Given the description of an element on the screen output the (x, y) to click on. 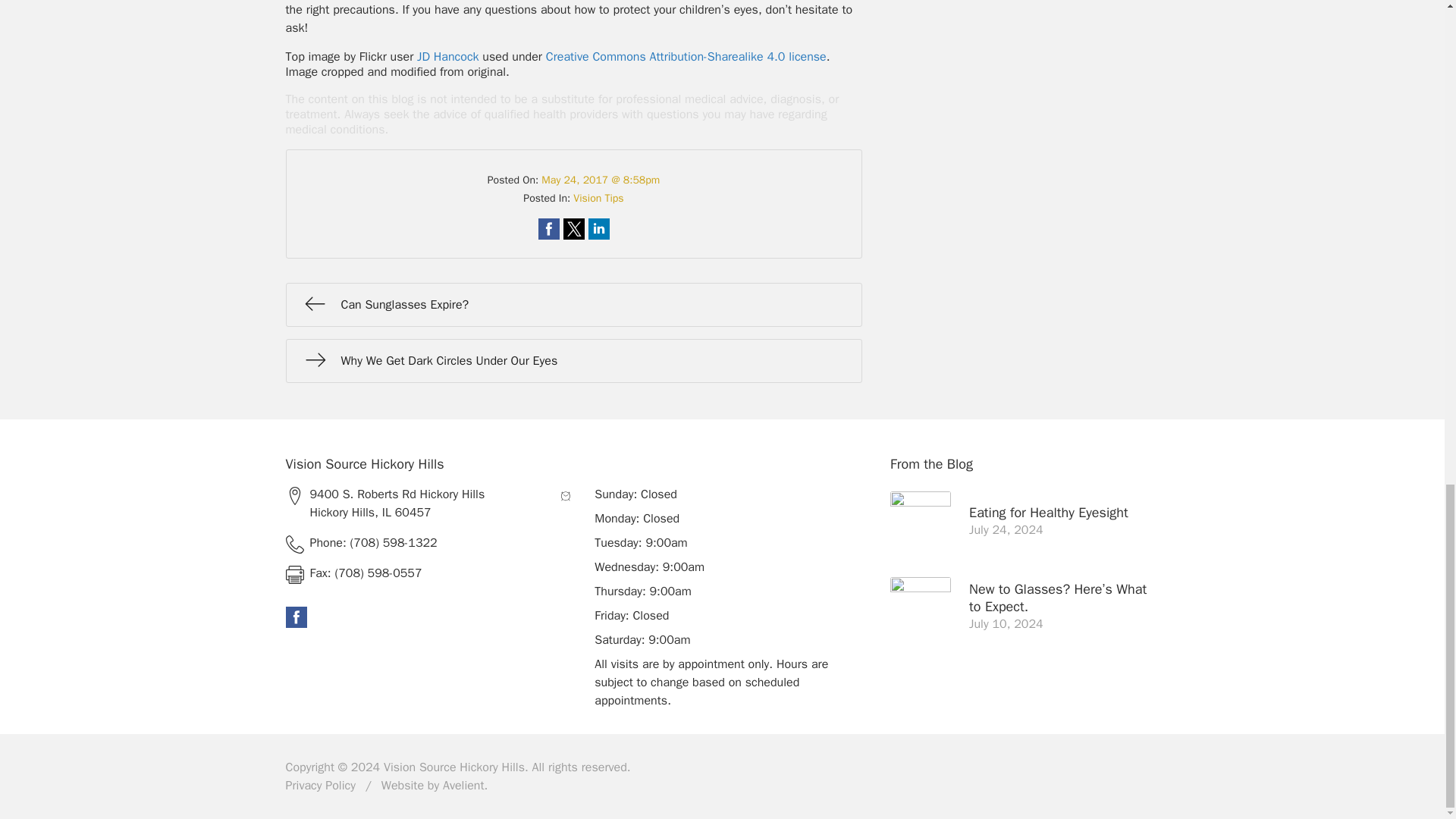
Go to our Facebook Page (295, 617)
Creative Commons Attribution-Sharealike 4.0 license (686, 56)
Can Sunglasses Expire? (573, 304)
Share on Twitter (572, 228)
Share on LinkedIn (599, 228)
Share on Facebook (548, 228)
Share on Facebook (548, 228)
Vision Tips (598, 197)
JD Hancock (447, 56)
Powered by Avelient (463, 785)
Share on Twitter (572, 228)
Open this Address on Google Maps (416, 503)
Call practice (416, 542)
Share on LinkedIn (599, 228)
